Given the description of an element on the screen output the (x, y) to click on. 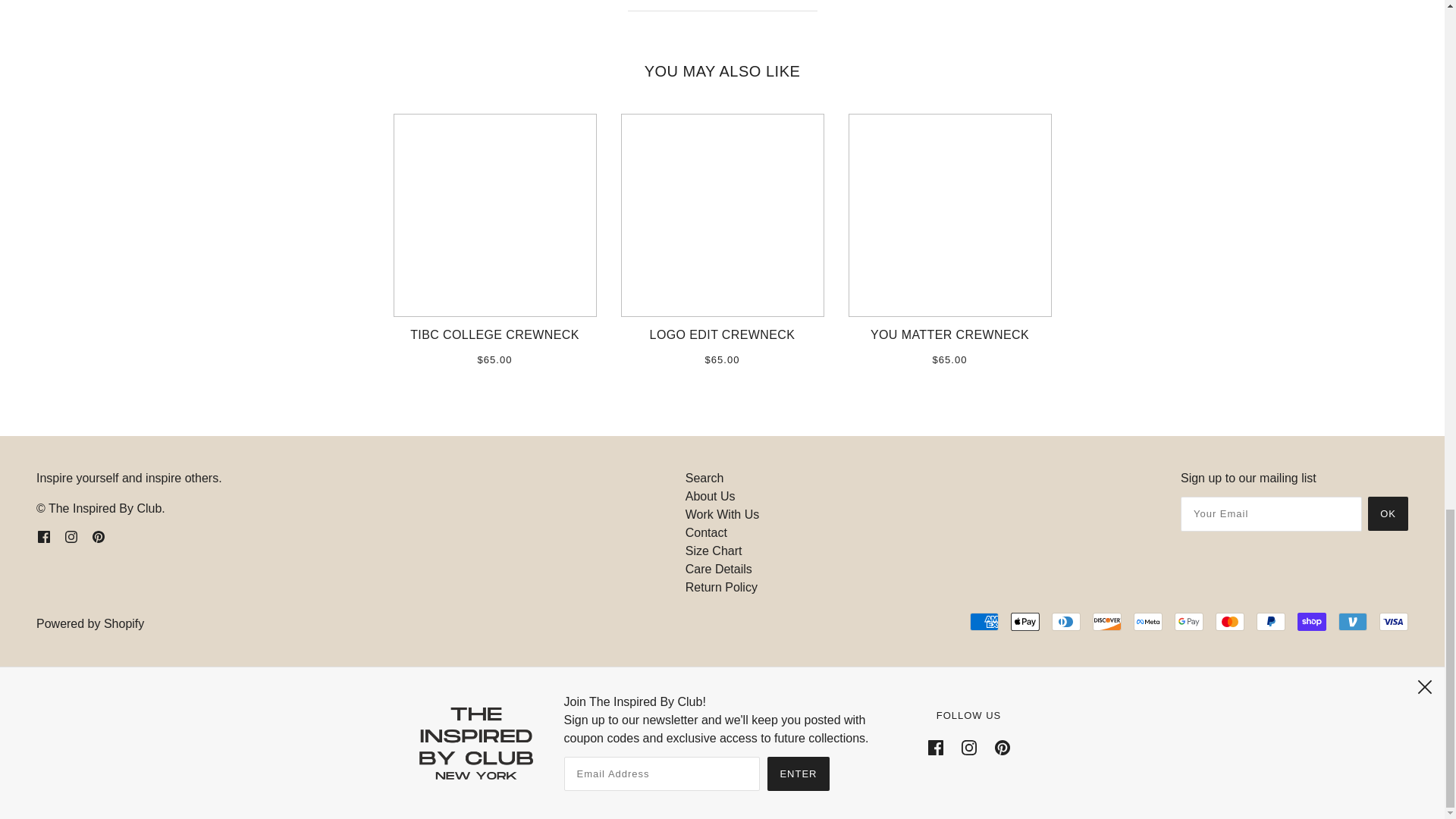
About Us (710, 495)
Work With Us (721, 513)
Apple Pay (1024, 621)
Return Policy (721, 586)
PayPal (1270, 621)
Care Details (718, 568)
Mastercard (1229, 621)
Work With Us (721, 513)
American Express (983, 621)
Diners Club (1065, 621)
